Given the description of an element on the screen output the (x, y) to click on. 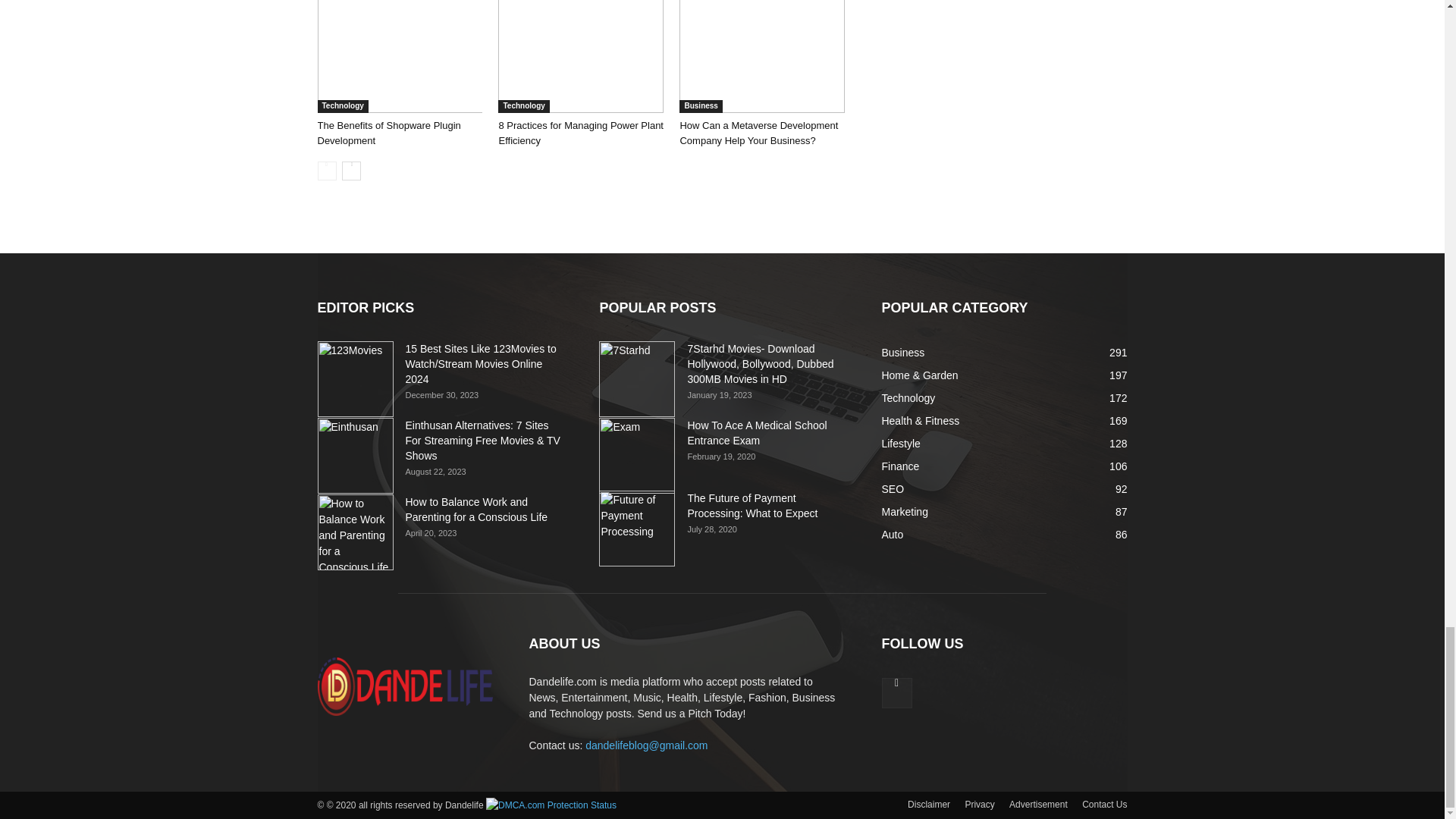
The Benefits of Shopware Plugin Development (388, 132)
How Can a Metaverse Development Company Help Your Business? (761, 56)
8 Practices for Managing Power Plant Efficiency (580, 132)
8 Practices for Managing Power Plant Efficiency (580, 56)
The Benefits of Shopware Plugin Development (399, 56)
